Given the description of an element on the screen output the (x, y) to click on. 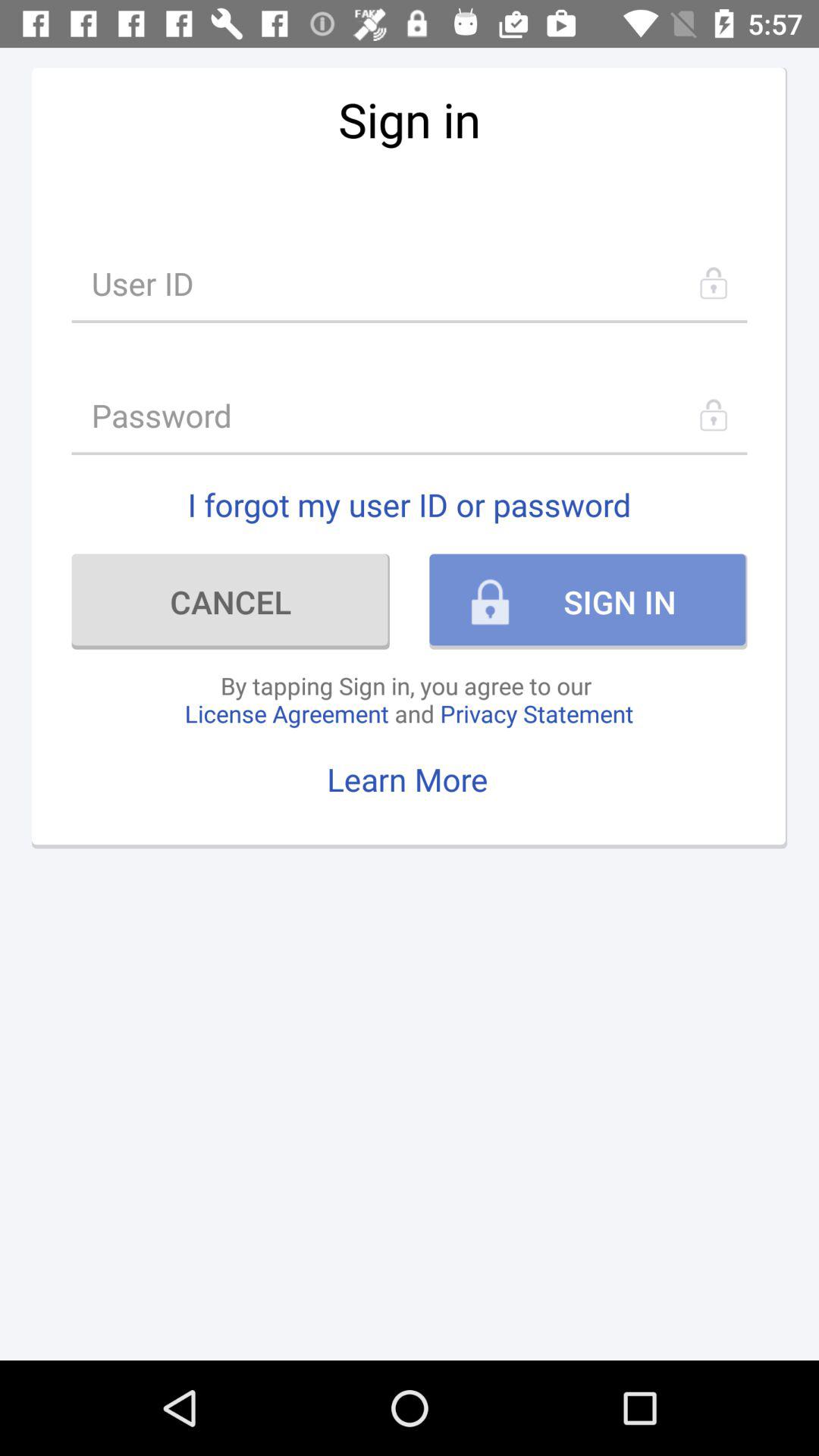
click by tapping sign item (408, 699)
